Given the description of an element on the screen output the (x, y) to click on. 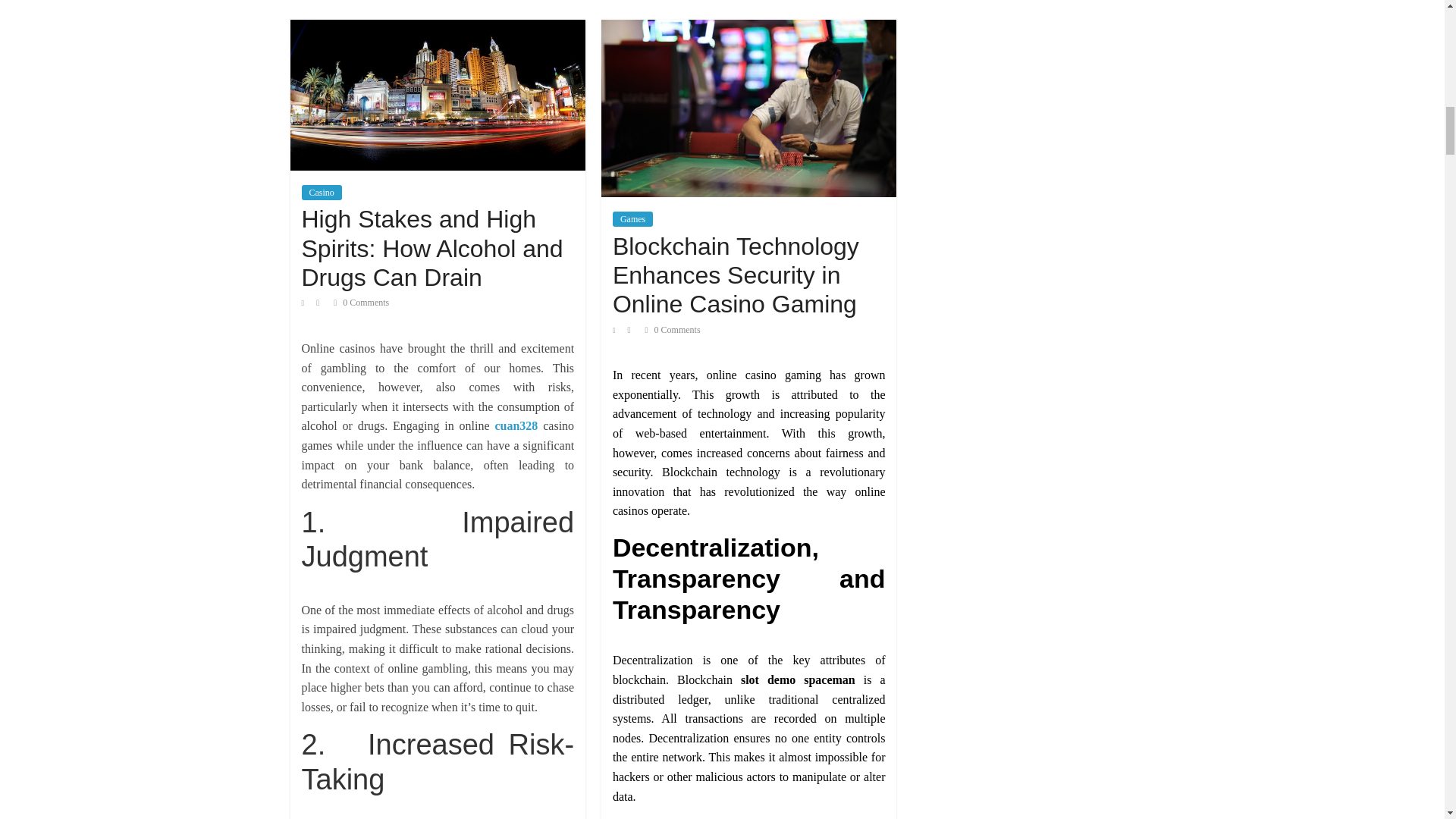
Casino (321, 192)
Games (632, 218)
slot demo spaceman (798, 679)
0 Comments (672, 329)
cuan328 (516, 425)
0 Comments (360, 302)
